Given the description of an element on the screen output the (x, y) to click on. 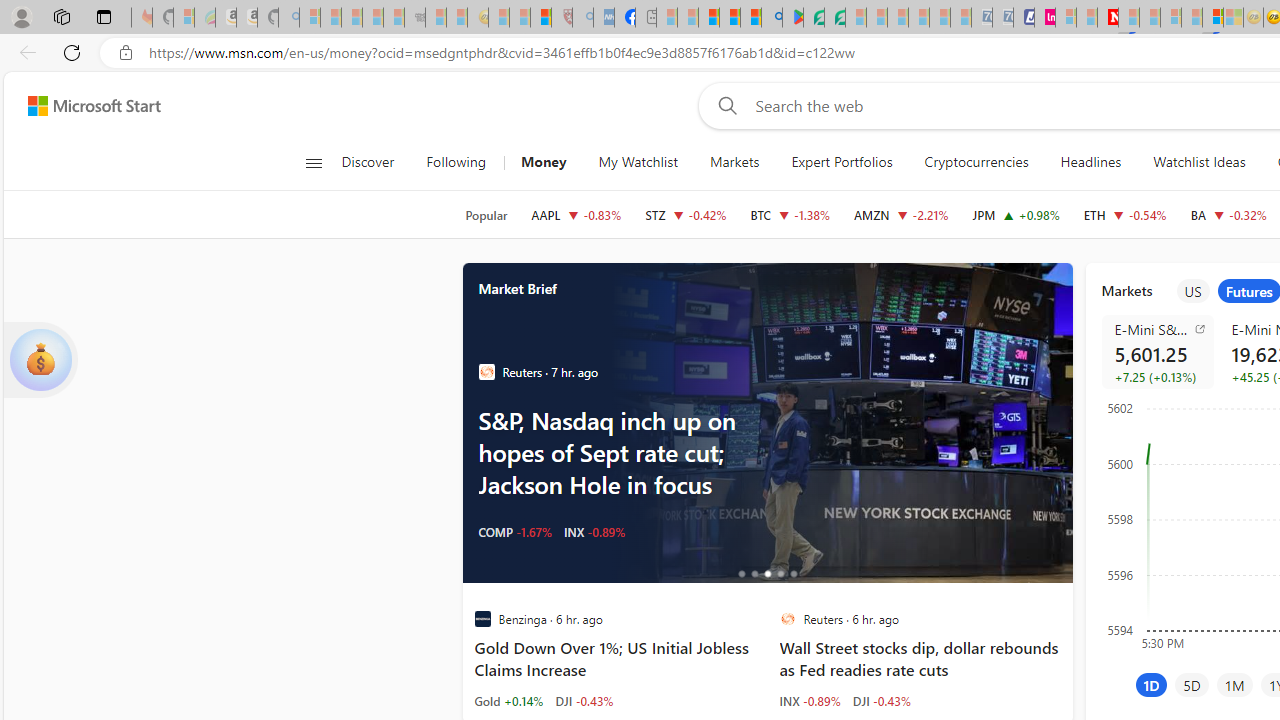
1M (1234, 684)
Bluey: Let's Play! - Apps on Google Play (792, 17)
COMP -1.67% (514, 532)
